Given the description of an element on the screen output the (x, y) to click on. 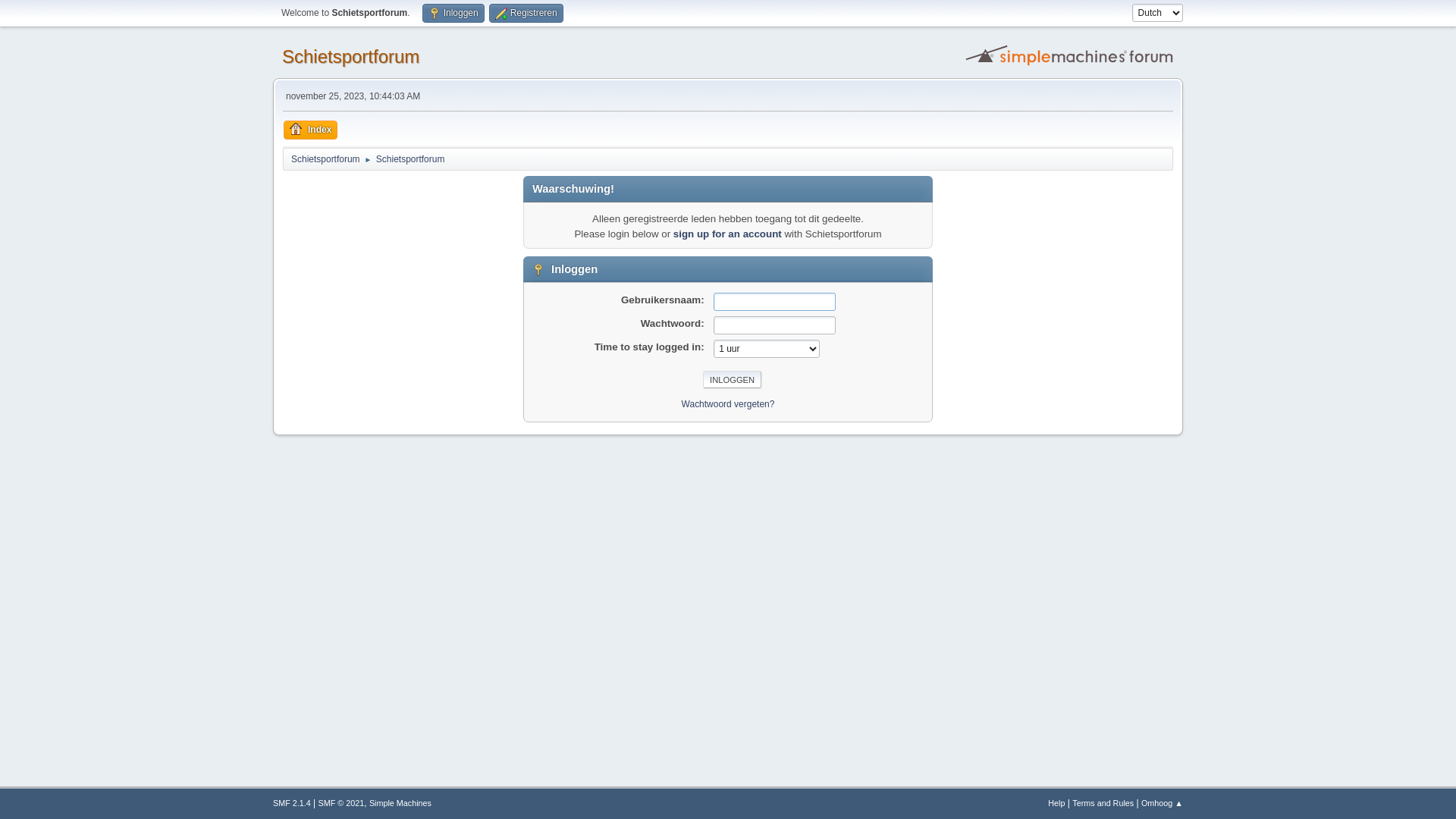
Wachtwoord vergeten? Element type: text (728, 403)
Inloggen Element type: text (731, 379)
sign up for an account Element type: text (727, 233)
Simple Machines Forum Element type: hover (1071, 54)
Schietsportforum Element type: text (325, 156)
Registreren Element type: text (525, 12)
Terms and Rules Element type: text (1102, 802)
Help Element type: text (1056, 802)
Schietsportforum Element type: text (410, 156)
Index Element type: text (310, 129)
Schietsportforum Element type: text (350, 56)
Simple Machines Element type: text (400, 802)
SMF 2.1.4 Element type: text (291, 802)
Inloggen Element type: text (452, 12)
